Given the description of an element on the screen output the (x, y) to click on. 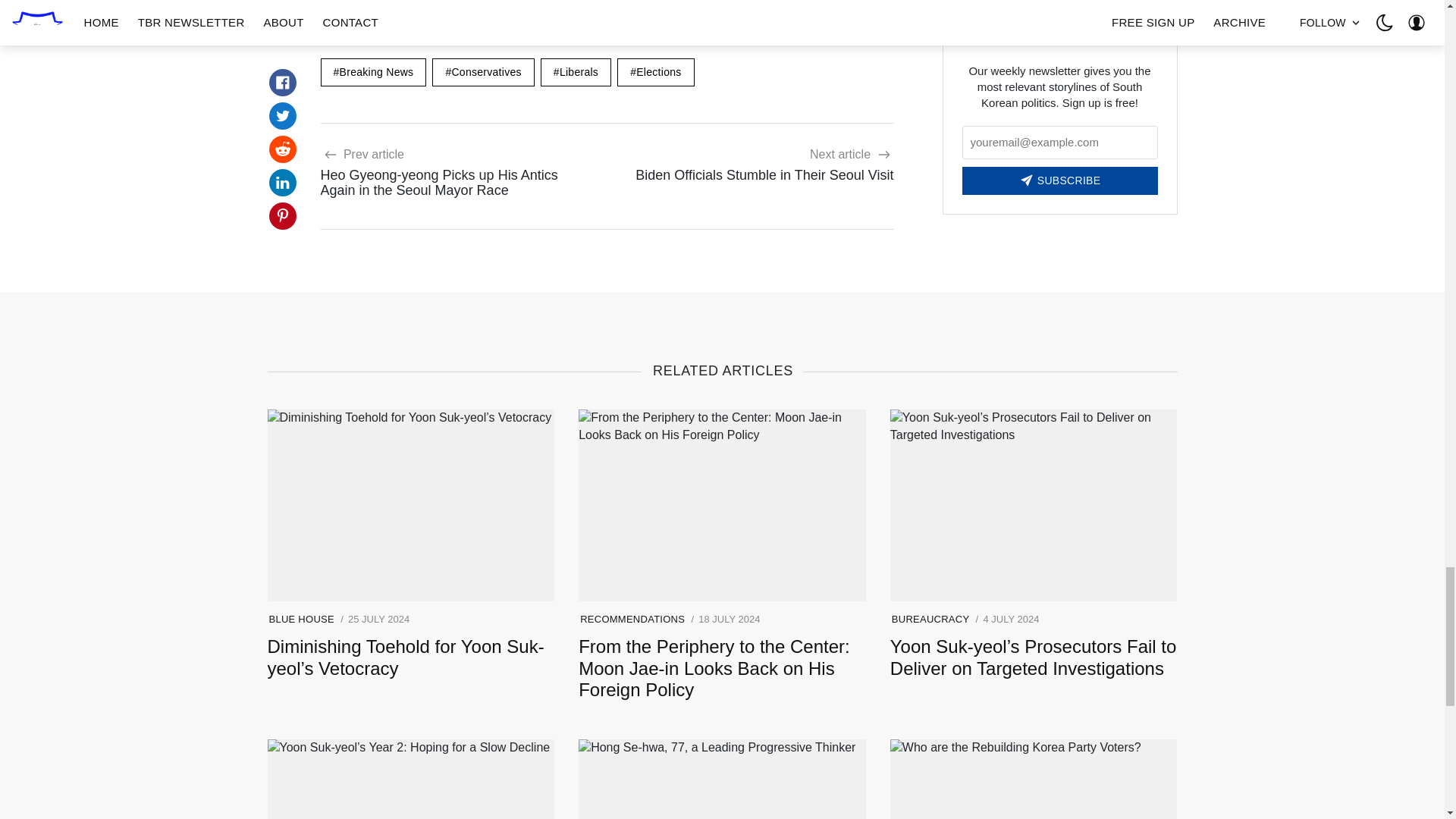
Elections (655, 72)
Liberals (575, 72)
Breaking News (373, 72)
Conservatives (483, 72)
